Given the description of an element on the screen output the (x, y) to click on. 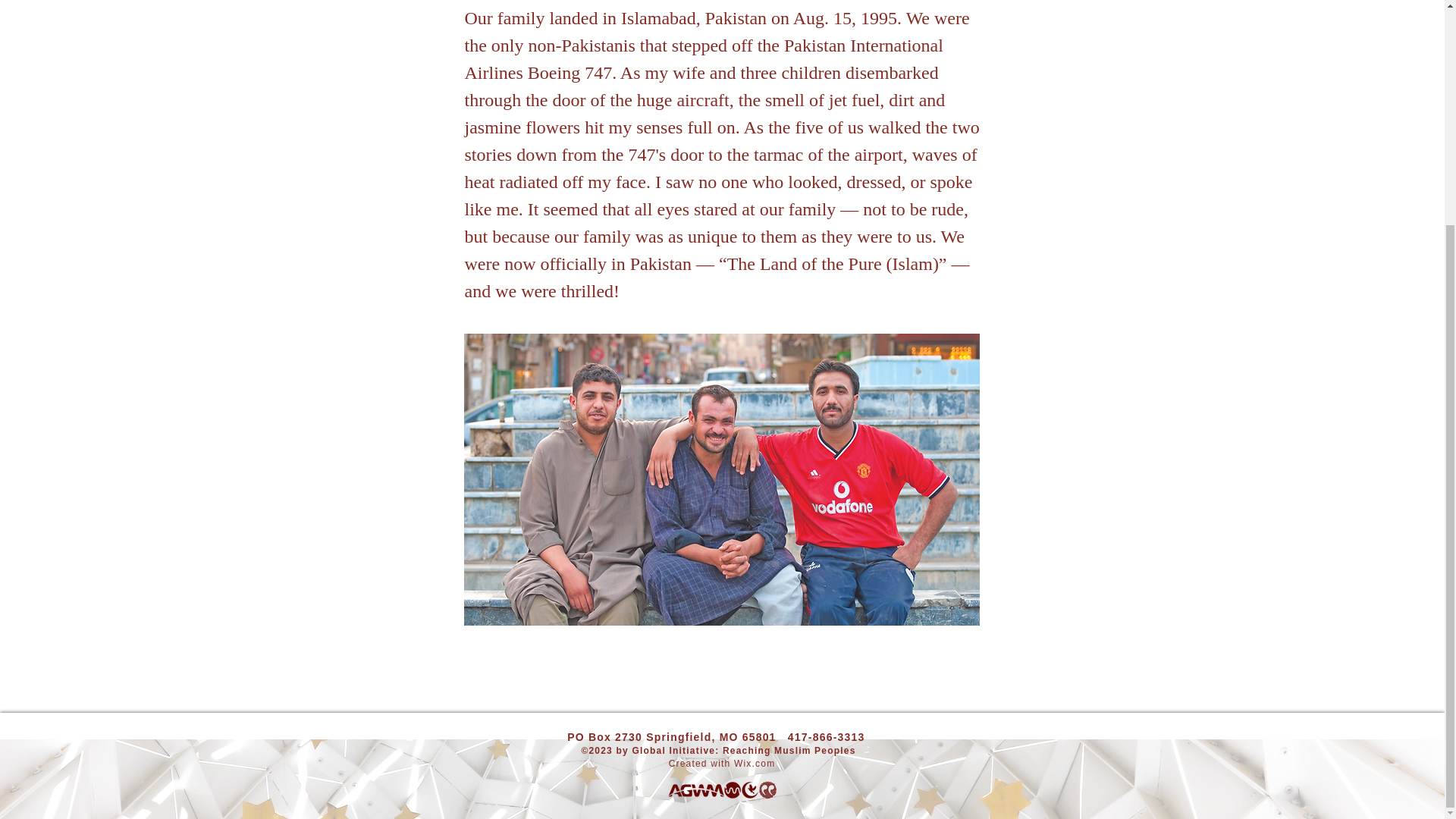
All Logos burgundy.png (721, 789)
